Given the description of an element on the screen output the (x, y) to click on. 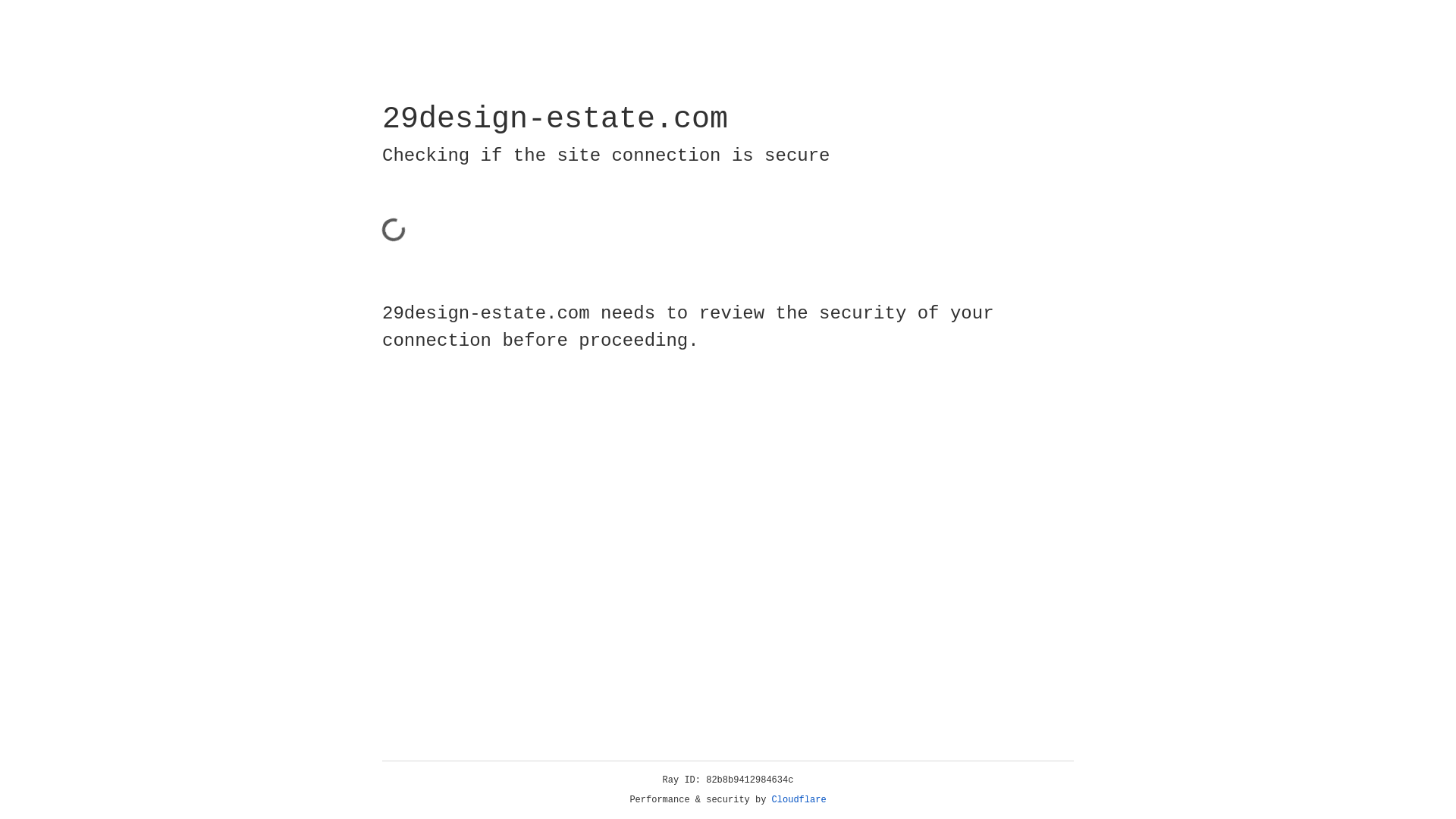
Cloudflare Element type: text (798, 799)
